Given the description of an element on the screen output the (x, y) to click on. 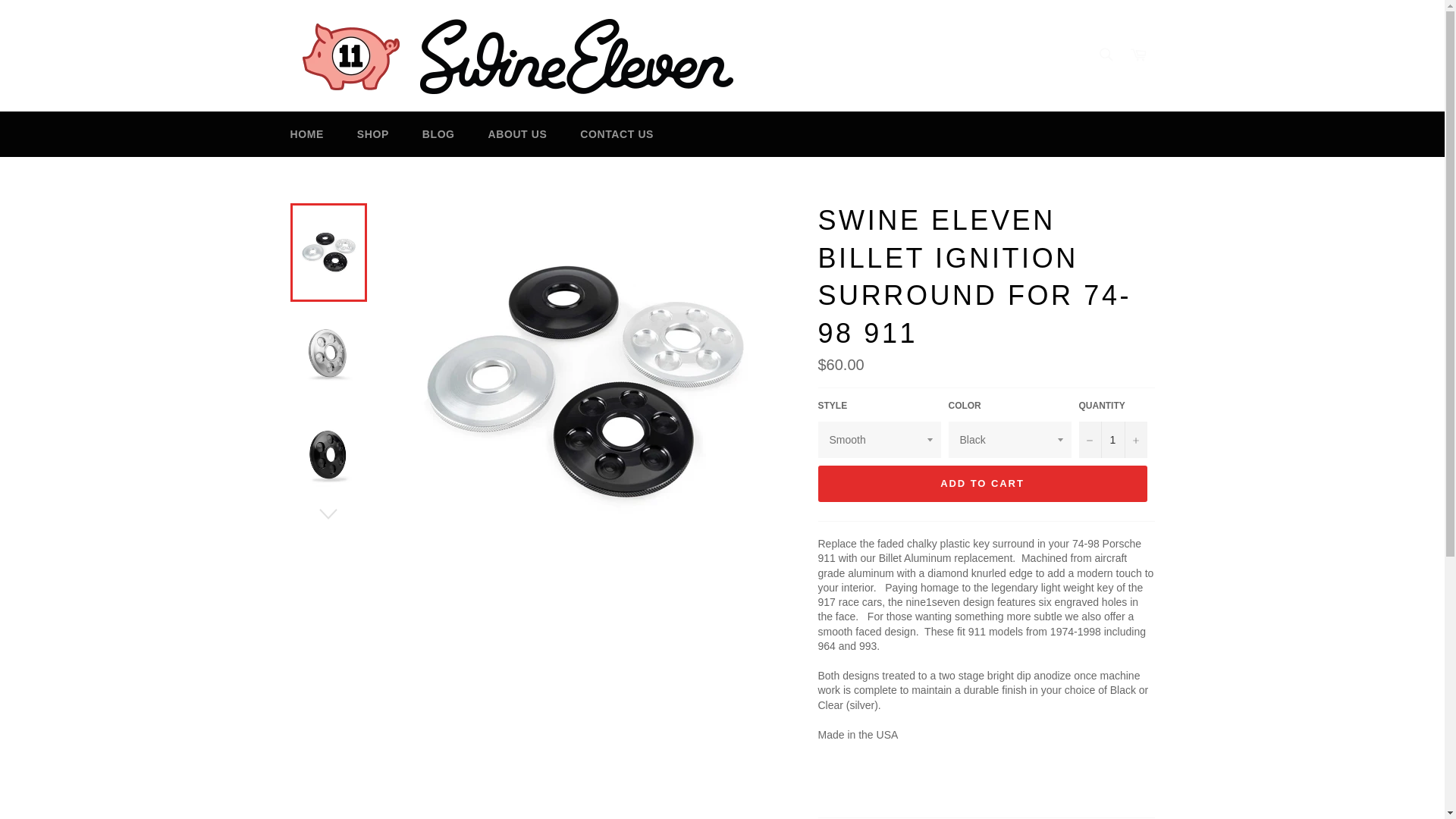
1 (1112, 439)
CONTACT US (616, 134)
ABOUT US (517, 134)
Search (1104, 54)
BLOG (438, 134)
Cart (1138, 55)
SHOP (373, 134)
HOME (306, 134)
